Given the description of an element on the screen output the (x, y) to click on. 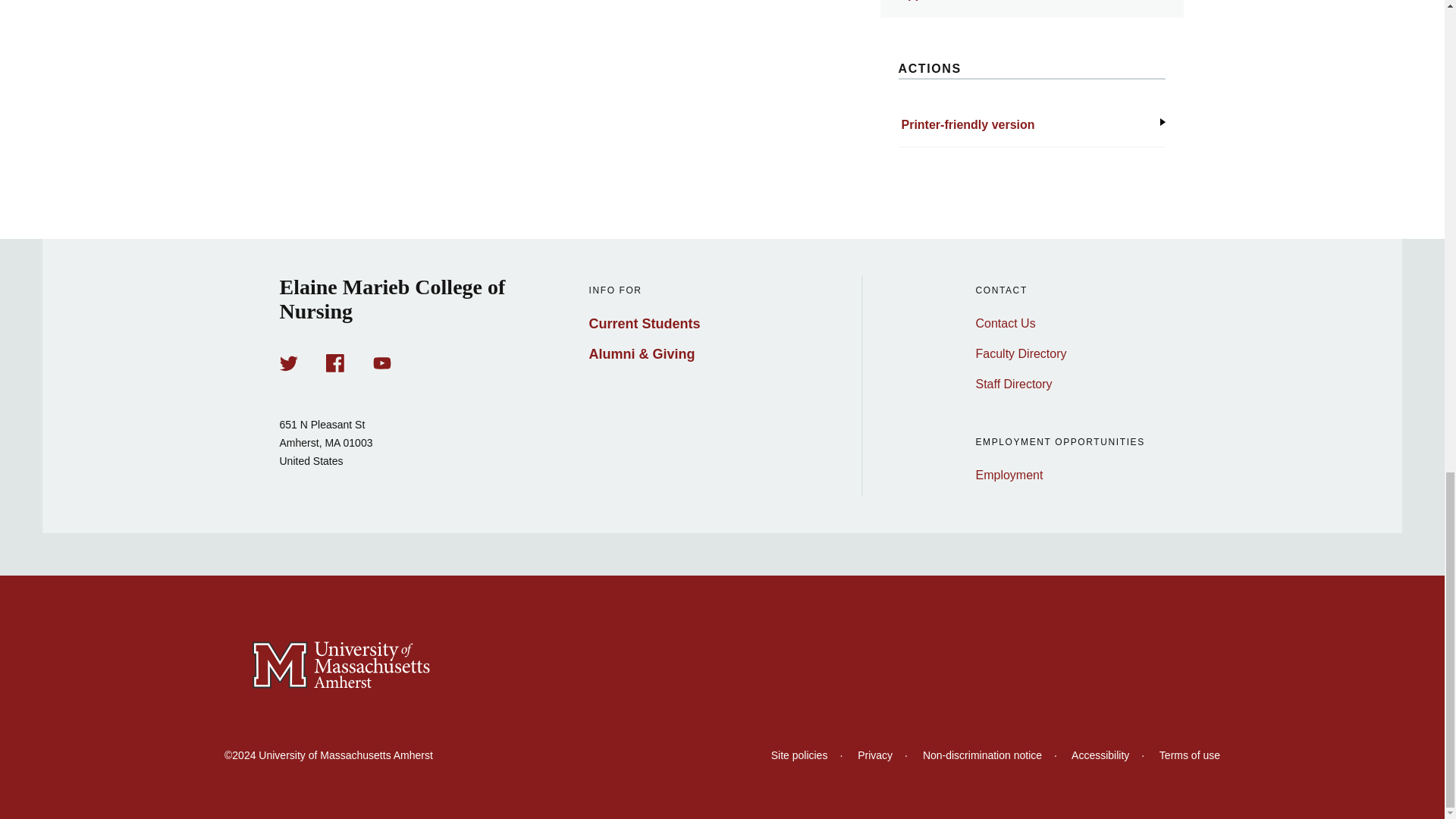
Find us on YouTube (381, 362)
Find us on Twitter (288, 362)
University of Massachusetts Amherst (722, 666)
Find us on Facebook (334, 362)
